Given the description of an element on the screen output the (x, y) to click on. 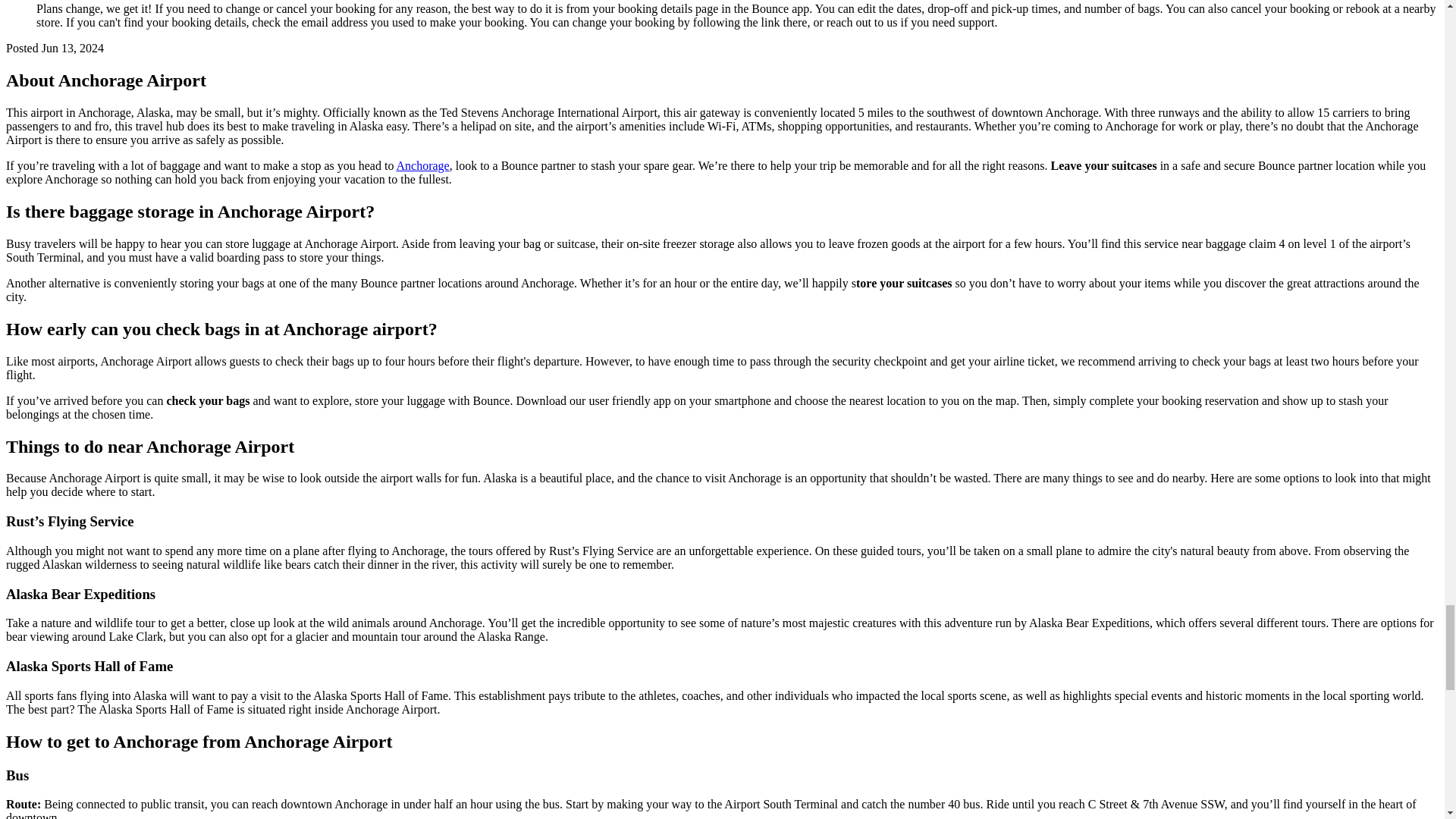
Anchorage (422, 164)
